Given the description of an element on the screen output the (x, y) to click on. 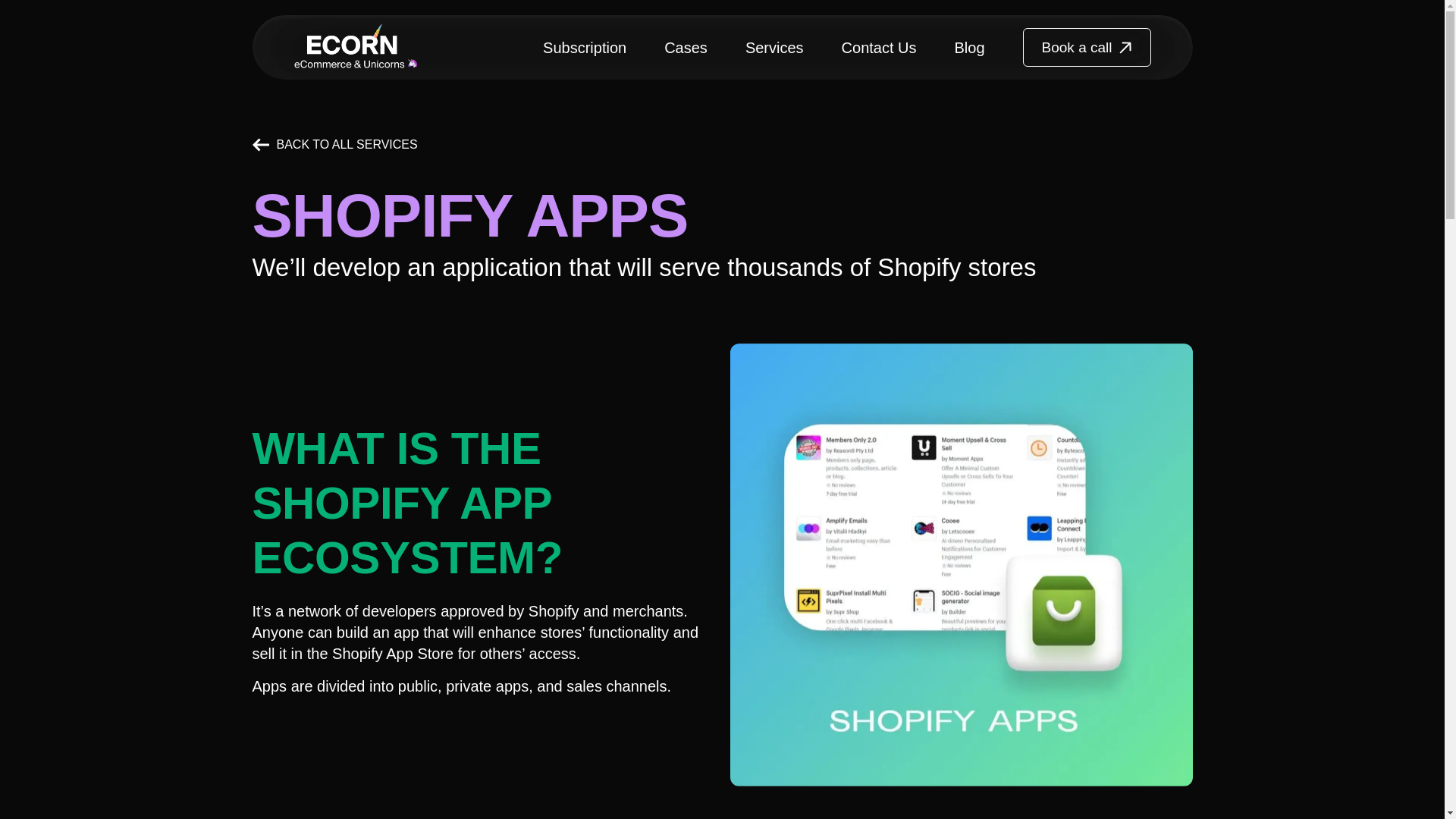
Cases (685, 47)
Book a call (1087, 46)
Contact Us (879, 47)
BACK TO ALL SERVICES (333, 144)
Services (774, 47)
Subscription (584, 47)
